Given the description of an element on the screen output the (x, y) to click on. 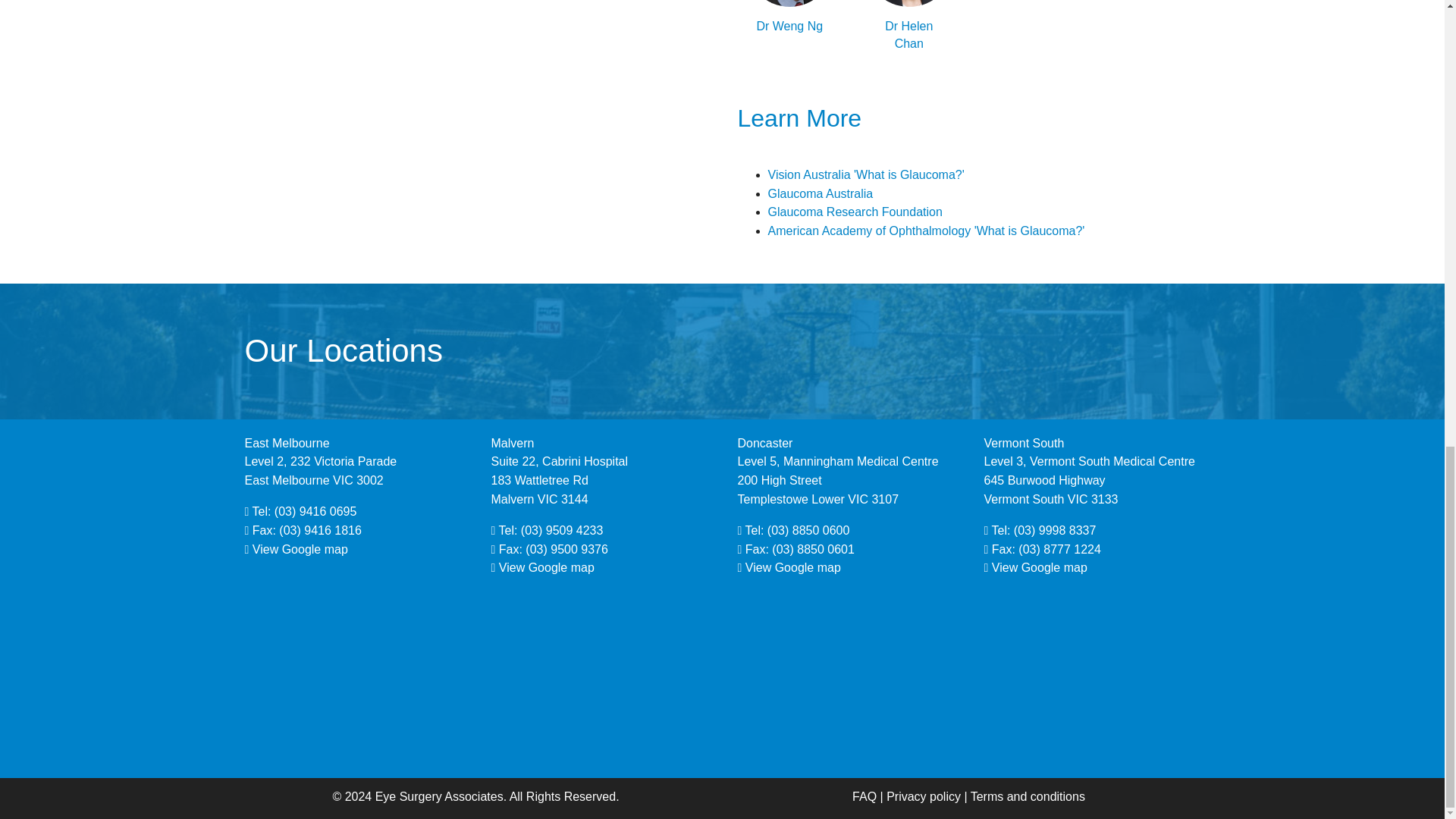
Dr Weng Ng (788, 35)
